Given the description of an element on the screen output the (x, y) to click on. 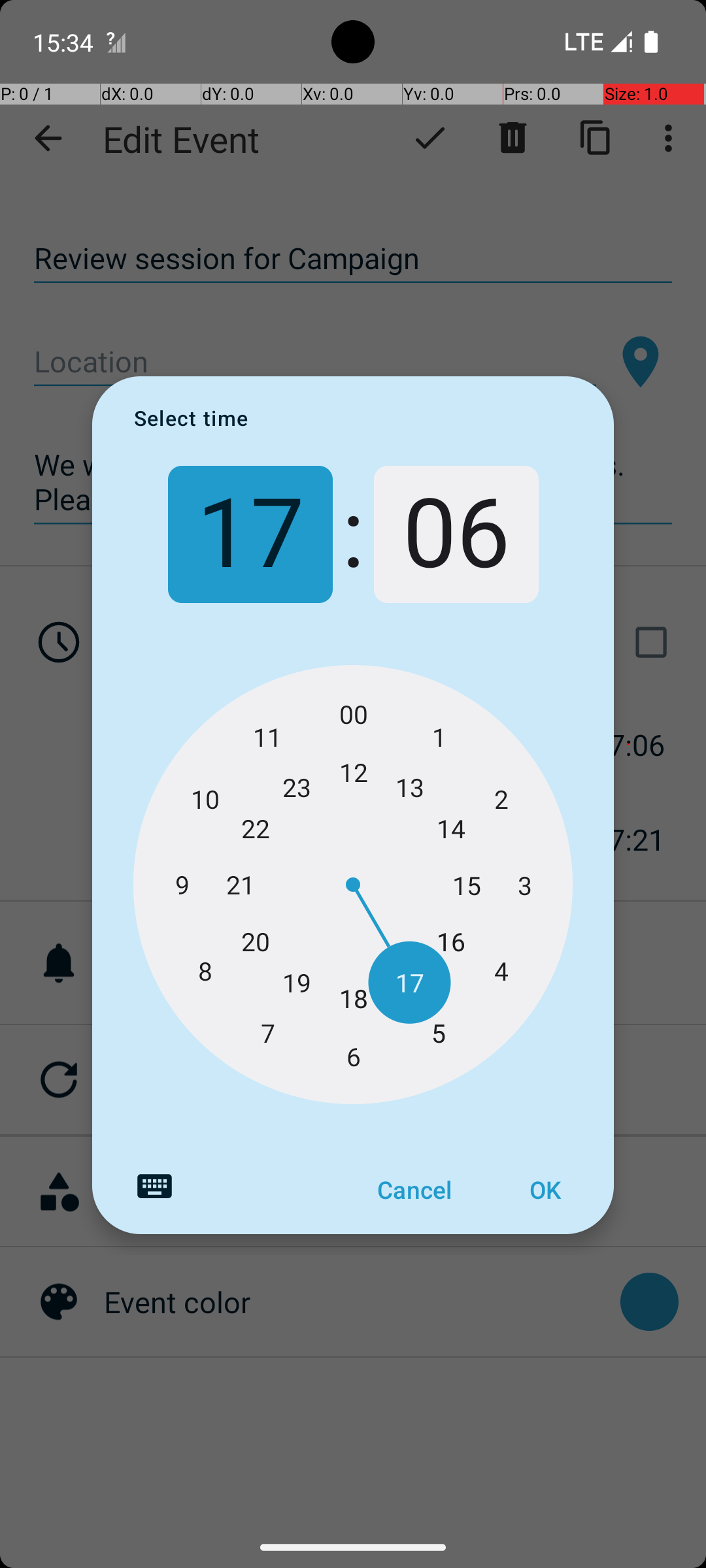
06 Element type: android.view.View (455, 534)
